Given the description of an element on the screen output the (x, y) to click on. 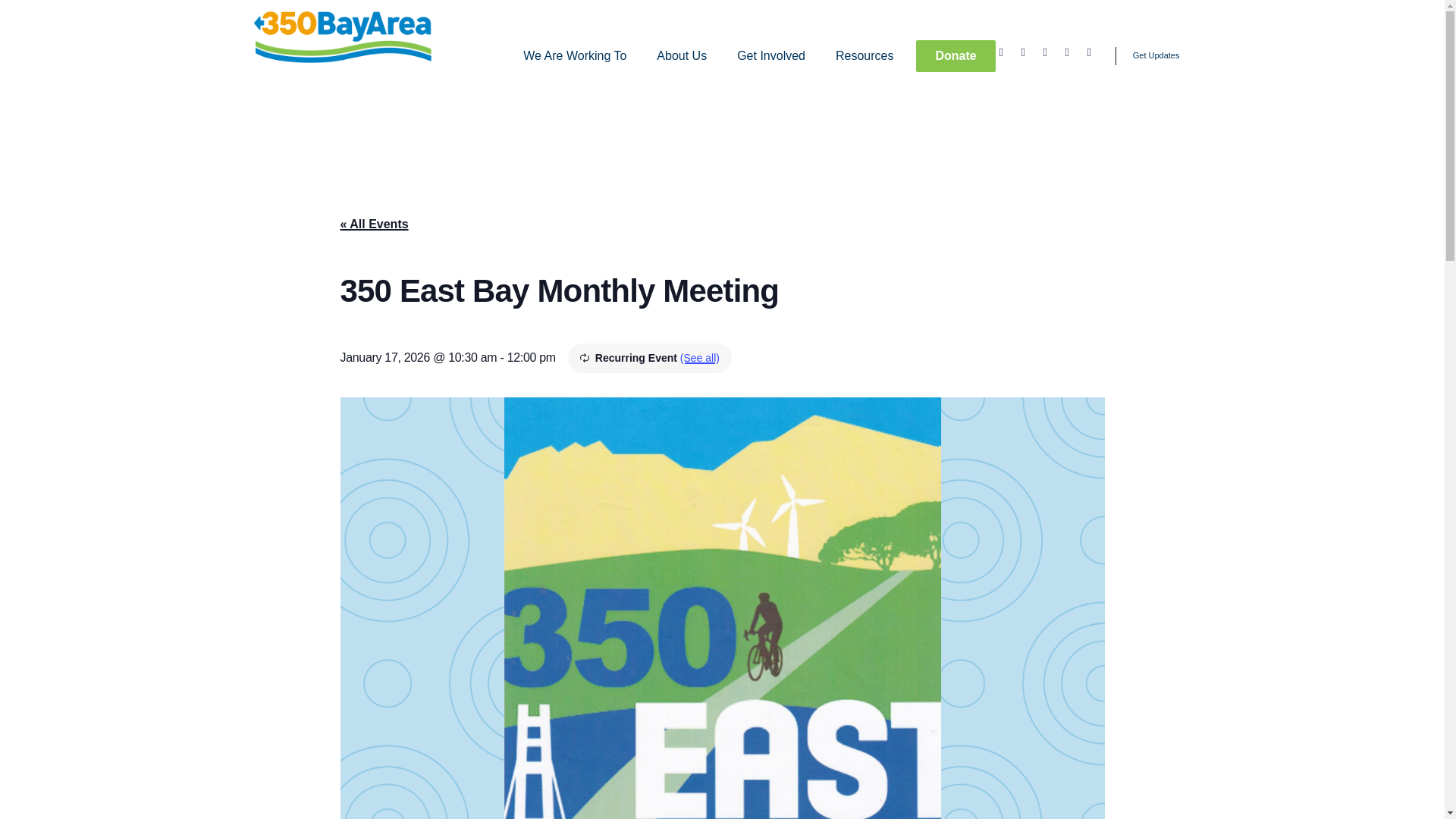
Resources (864, 56)
About Us (682, 56)
We Are Working To (575, 56)
Get Involved (771, 56)
